Given the description of an element on the screen output the (x, y) to click on. 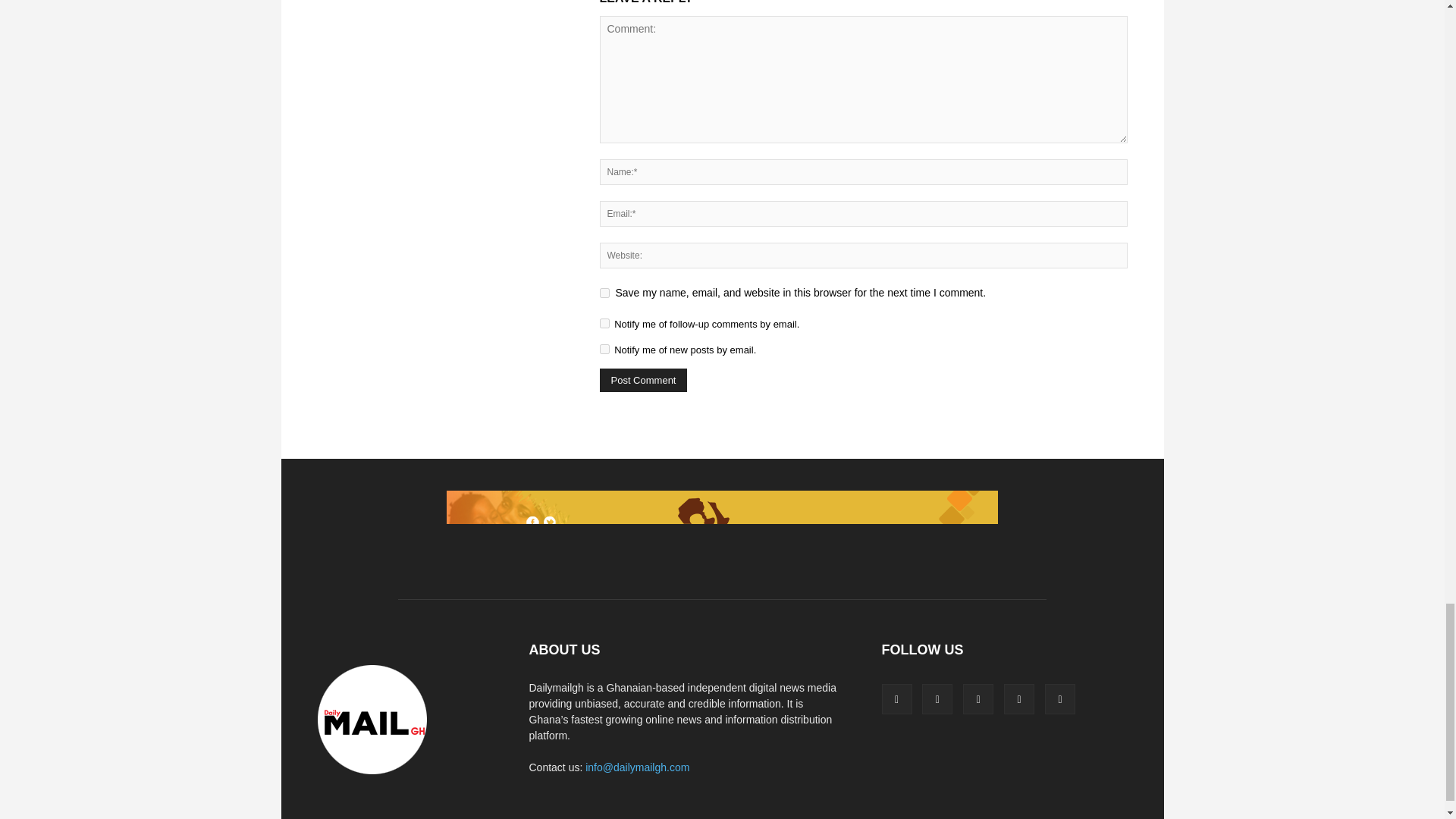
subscribe (603, 323)
Post Comment (642, 380)
yes (603, 293)
subscribe (603, 348)
